Given the description of an element on the screen output the (x, y) to click on. 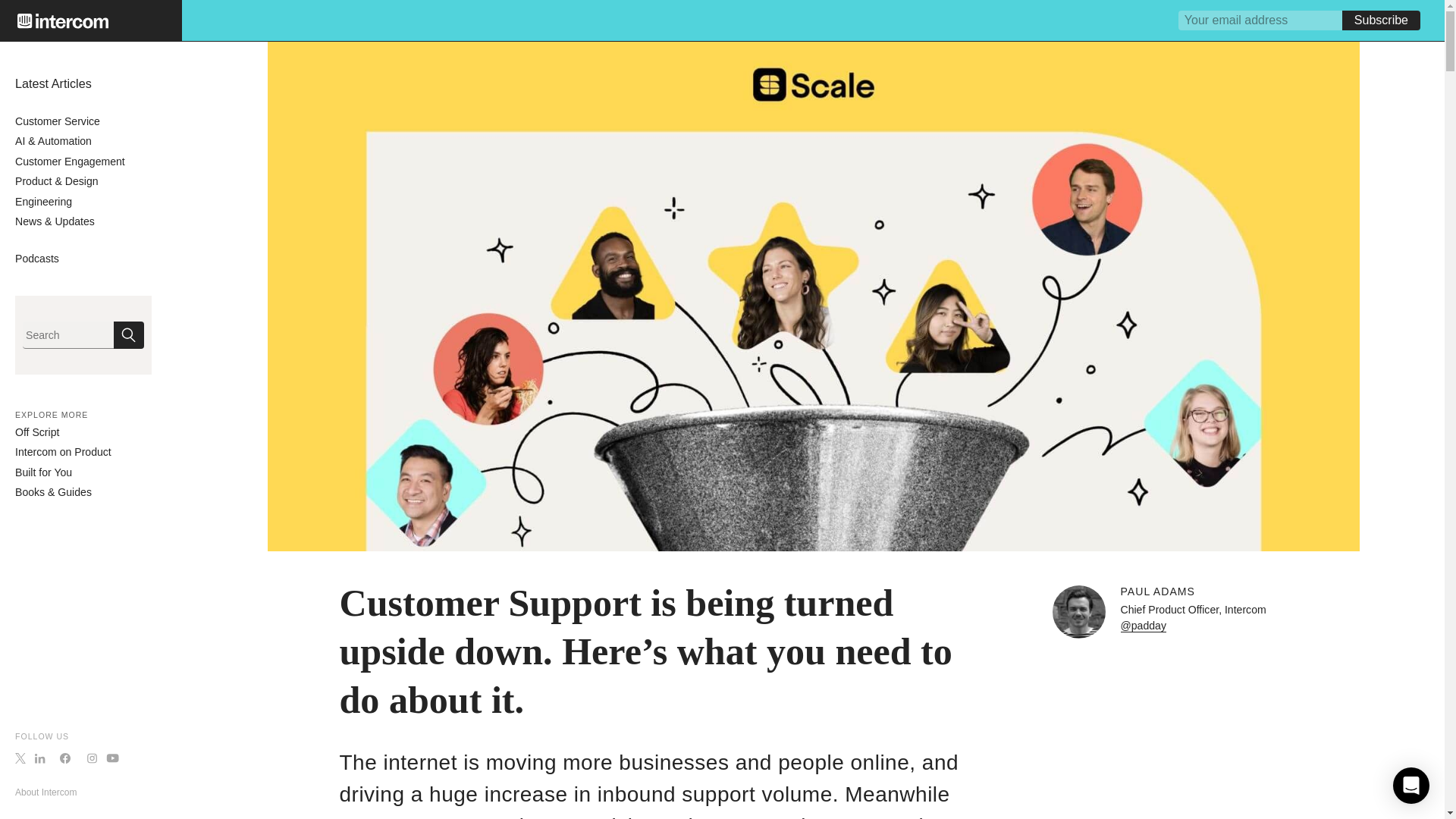
InstagramInstagram Icon (92, 757)
Intercom Home (61, 20)
Intercom Topbar SearchIntercom Topbar Search Icon (128, 335)
LinkedInLinkedIn Icon (39, 757)
X X icon (20, 757)
Posts by Paul Adams (1158, 591)
Subscribe (1381, 20)
Latest Articles (52, 83)
YouTubeYouTube Icon (112, 757)
Customer Service (57, 121)
